Given the description of an element on the screen output the (x, y) to click on. 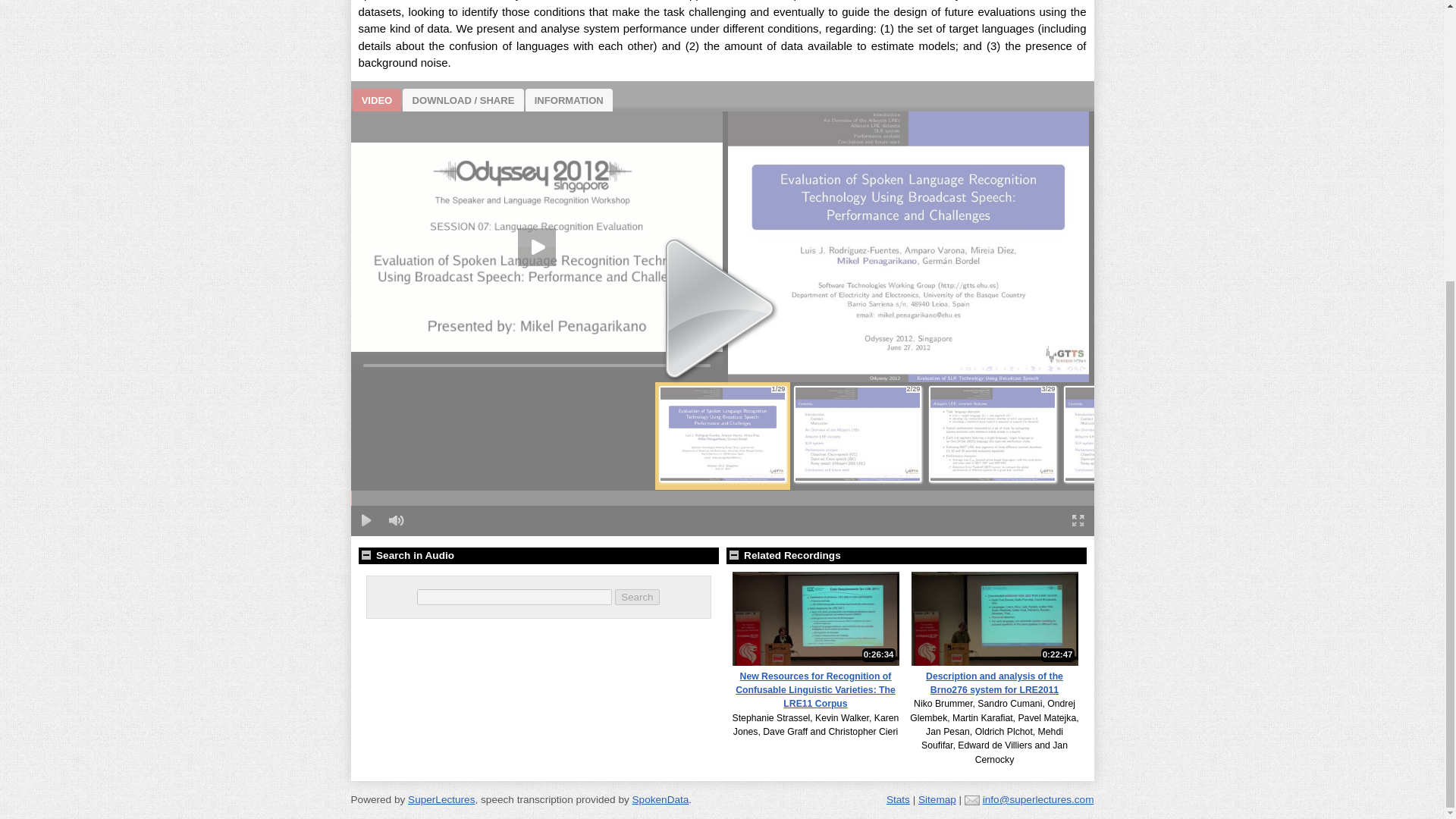
VIDEO (376, 99)
Search (636, 596)
INFORMATION (568, 99)
